Given the description of an element on the screen output the (x, y) to click on. 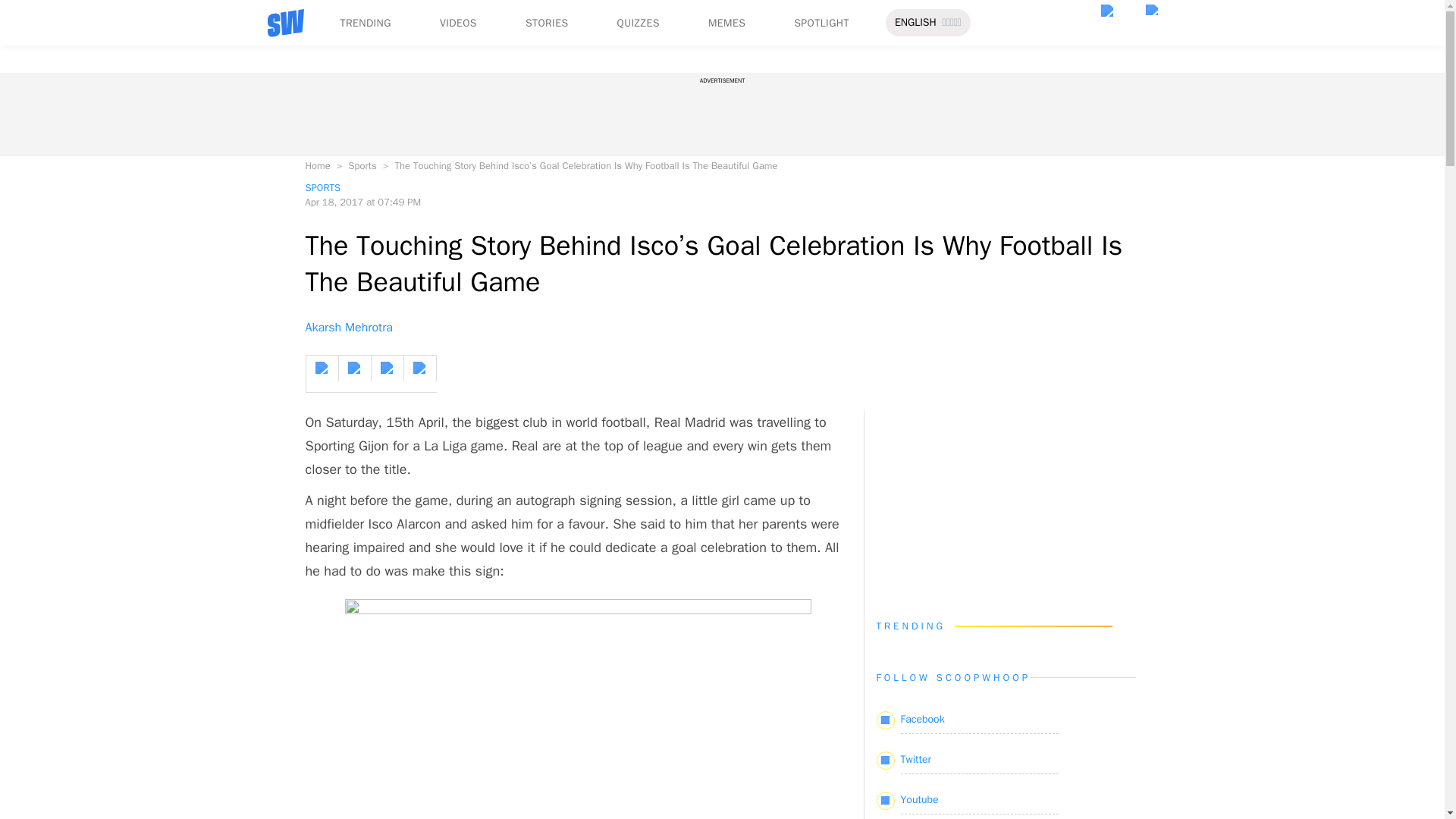
SPOTLIGHT (820, 22)
MEMES (726, 22)
VIDEOS (458, 22)
TRENDING (364, 22)
STORIES (547, 22)
QUIZZES (638, 22)
ENGLISH (915, 22)
